Given the description of an element on the screen output the (x, y) to click on. 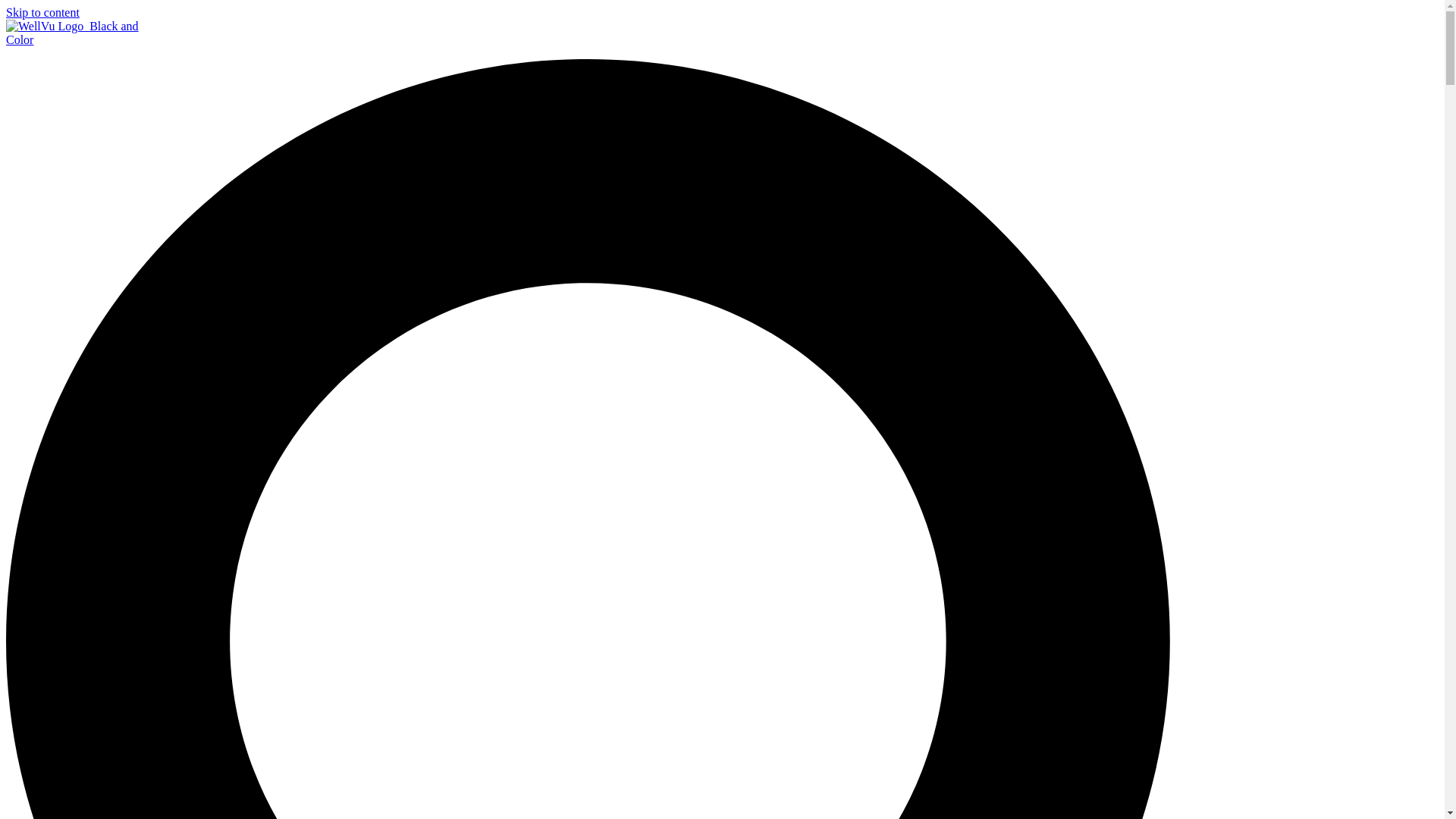
Skip to content (42, 11)
